Given the description of an element on the screen output the (x, y) to click on. 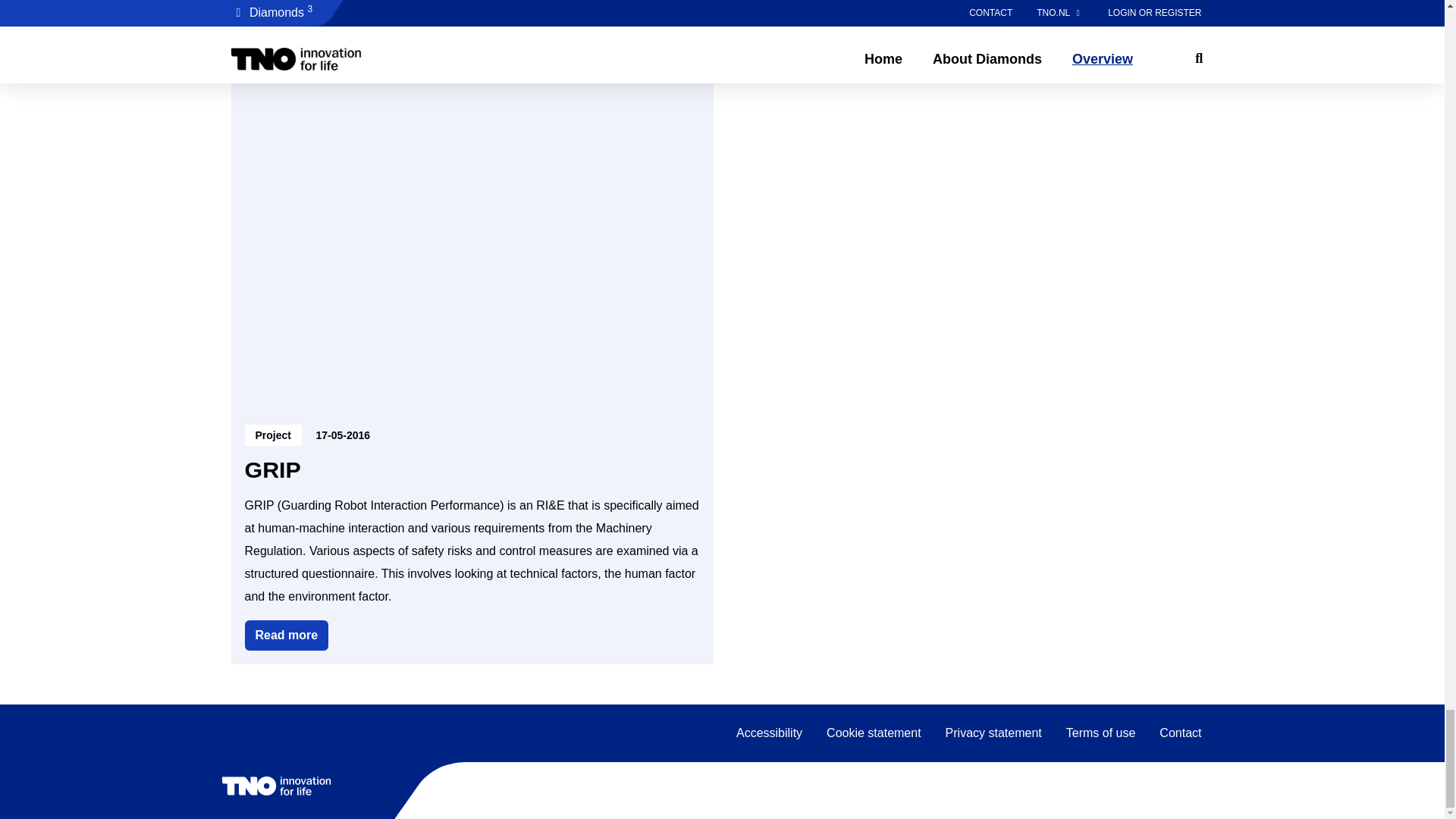
Privacy statement (286, 634)
Cookie statement (993, 733)
Accessibility (873, 733)
TNO - innovation for life (768, 733)
